Given the description of an element on the screen output the (x, y) to click on. 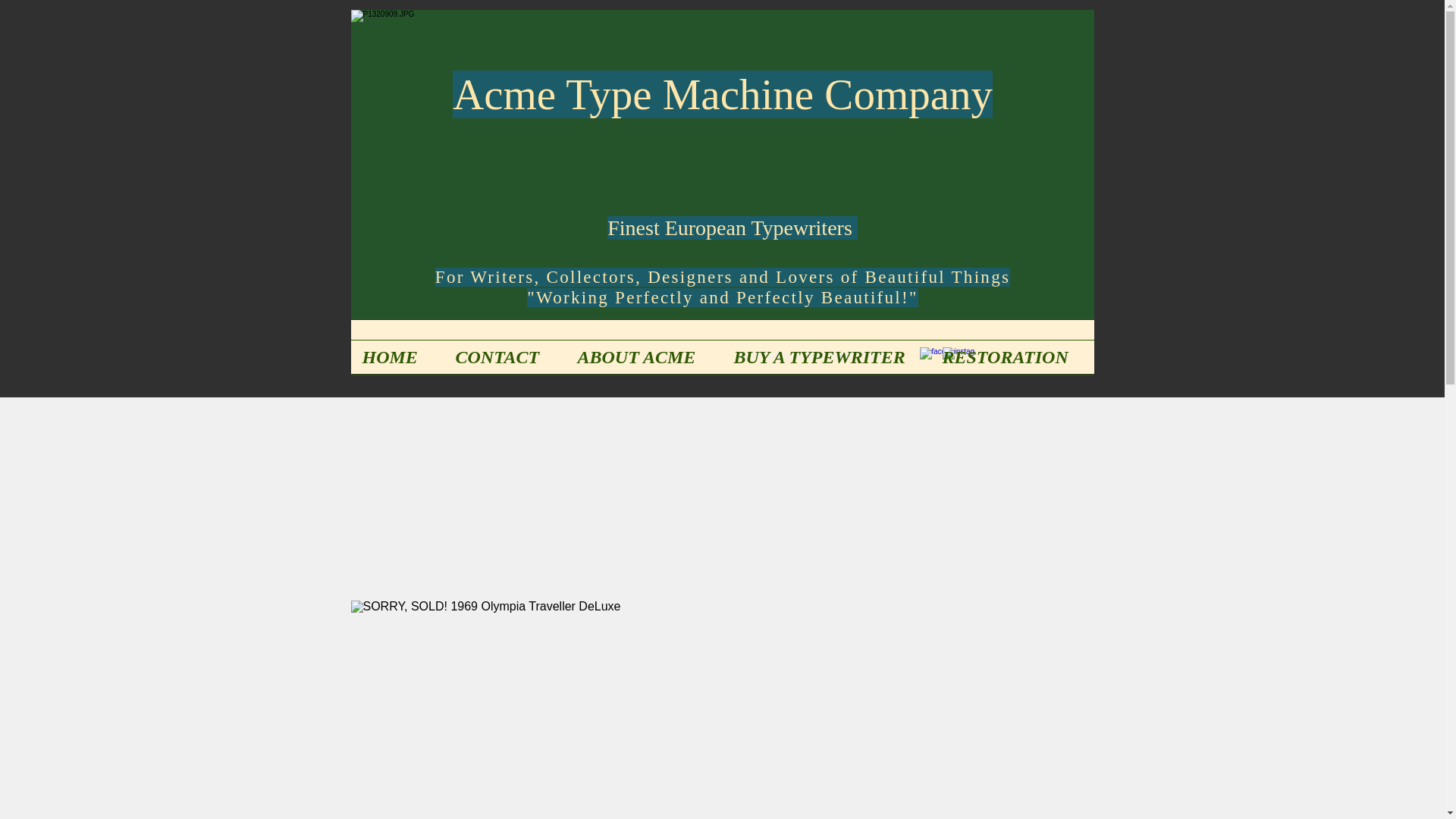
CONTACT (505, 357)
ABOUT ACME (644, 357)
HOME (397, 357)
RESTORATION (1012, 357)
BUY A TYPEWRITER (826, 357)
